Given the description of an element on the screen output the (x, y) to click on. 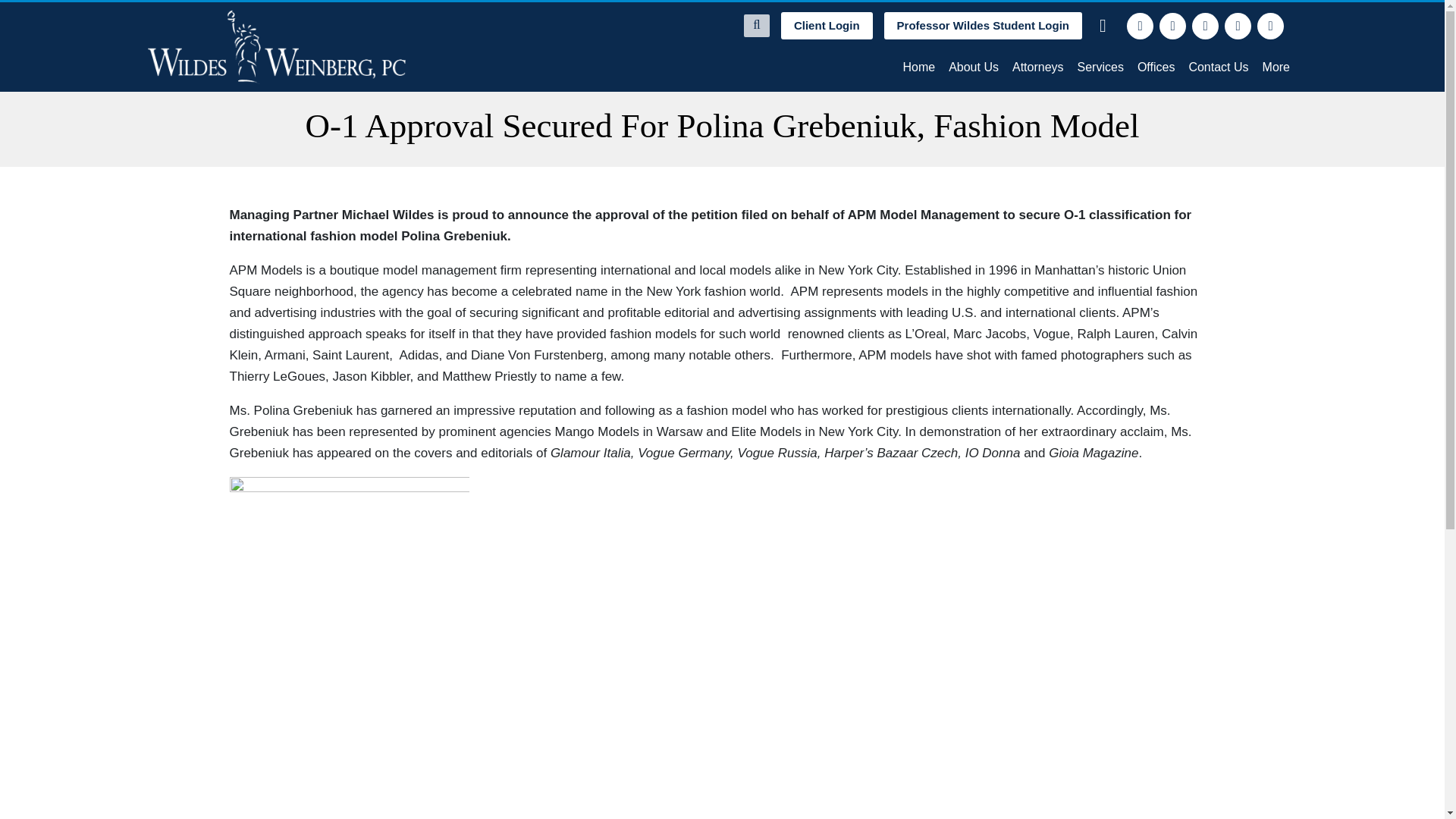
facebook (1139, 26)
Professor Wildes Student Login (982, 25)
youtube (1270, 26)
linkedin (1205, 26)
Home (918, 67)
Client Login (826, 25)
instagram (1237, 26)
About Us (974, 67)
Attorneys (1038, 67)
twitter (1172, 26)
Services (1100, 67)
